Given the description of an element on the screen output the (x, y) to click on. 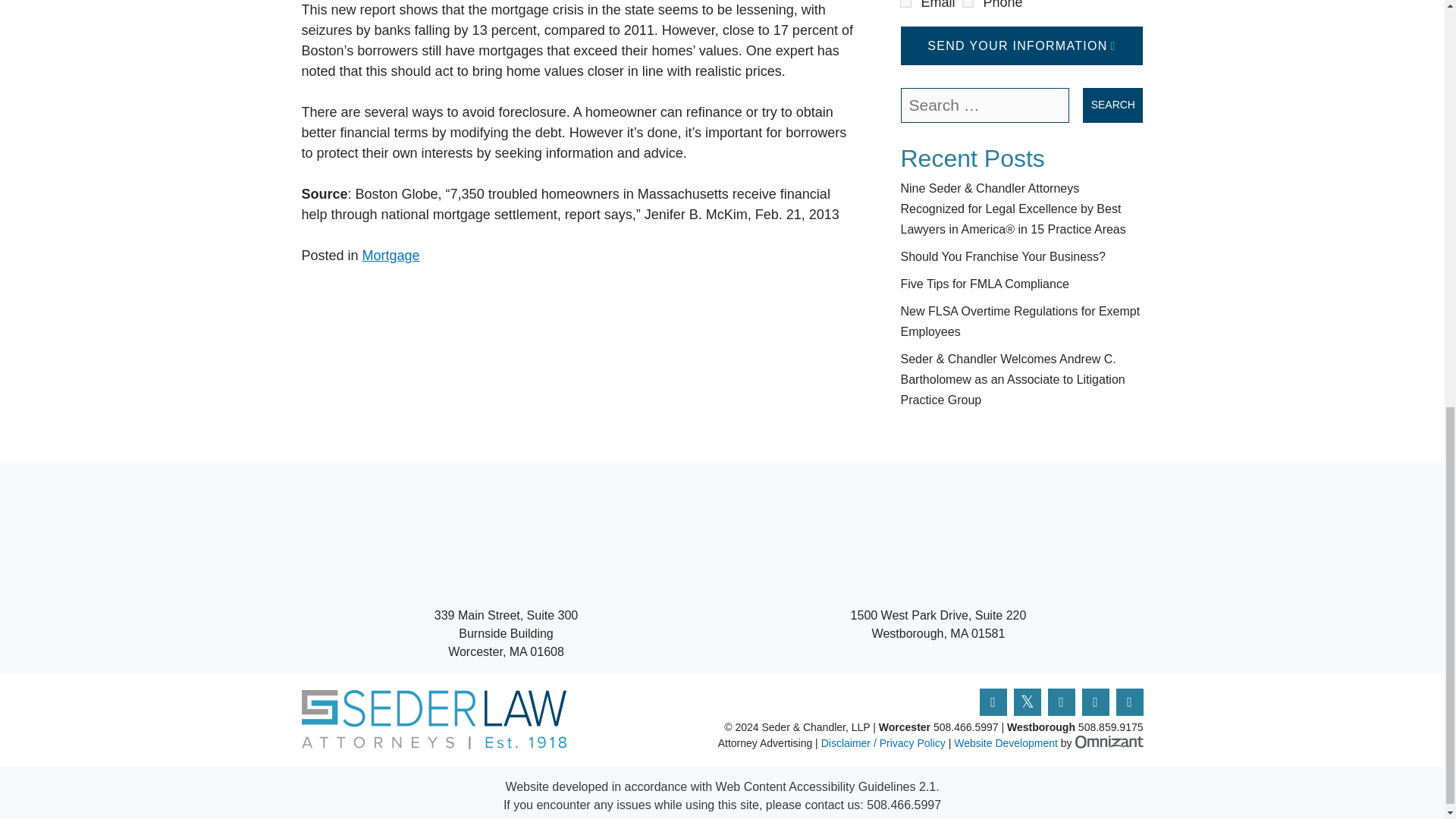
Phone (965, 2)
Search (1112, 104)
Search for: (985, 104)
Email (903, 2)
Search (1112, 104)
